Given the description of an element on the screen output the (x, y) to click on. 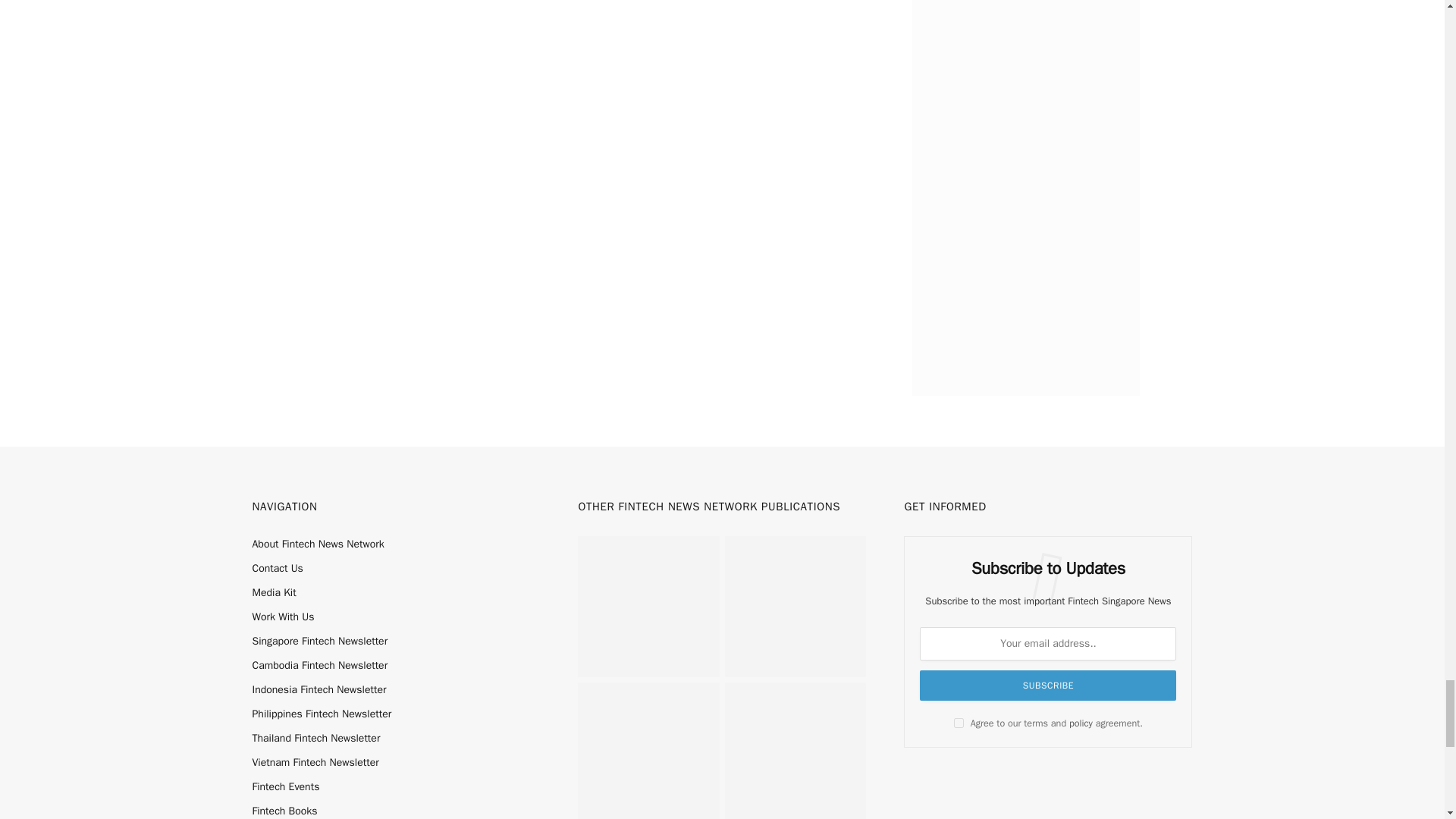
Subscribe (1048, 685)
on (958, 723)
